Given the description of an element on the screen output the (x, y) to click on. 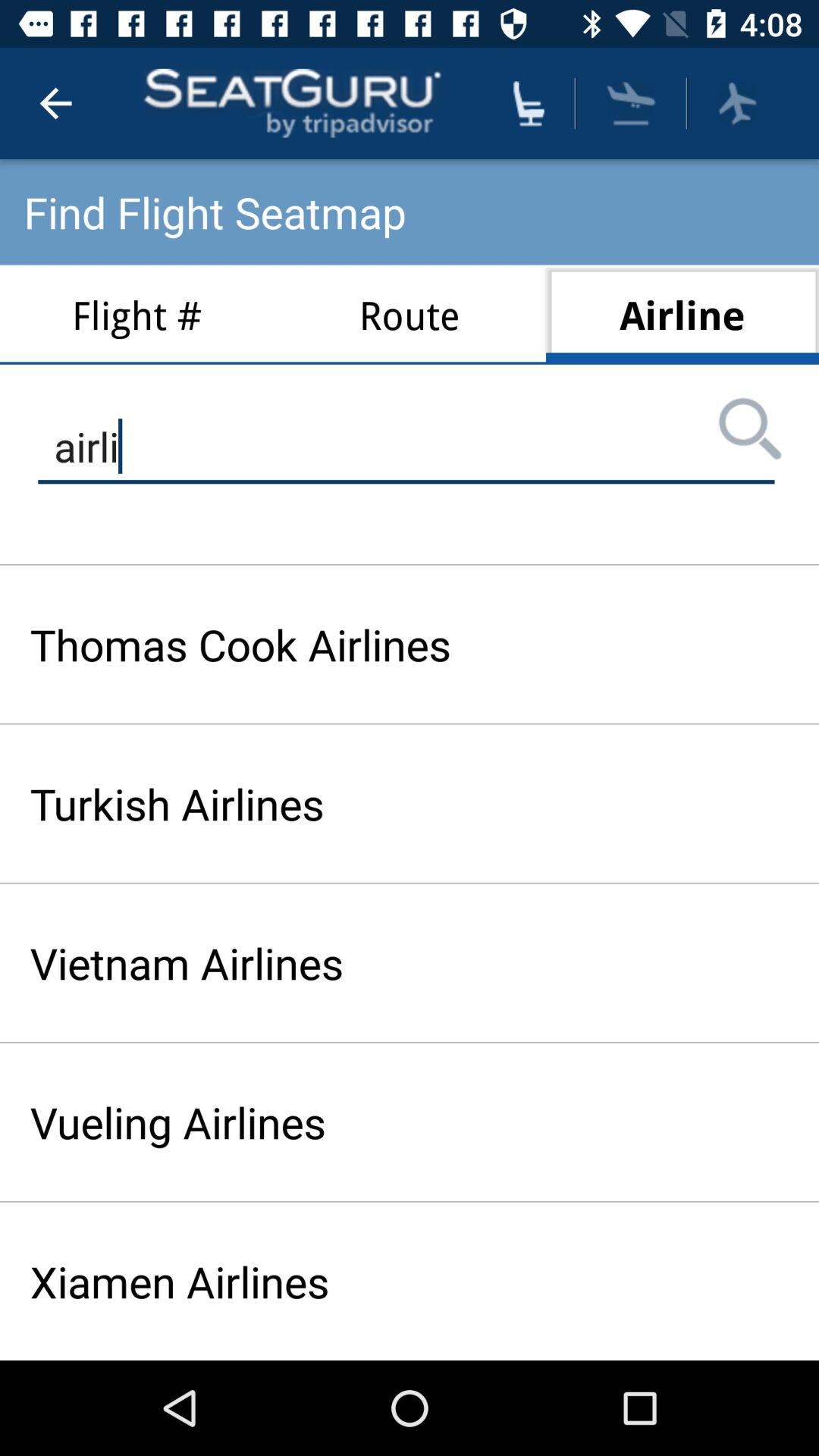
select a seat (528, 103)
